Given the description of an element on the screen output the (x, y) to click on. 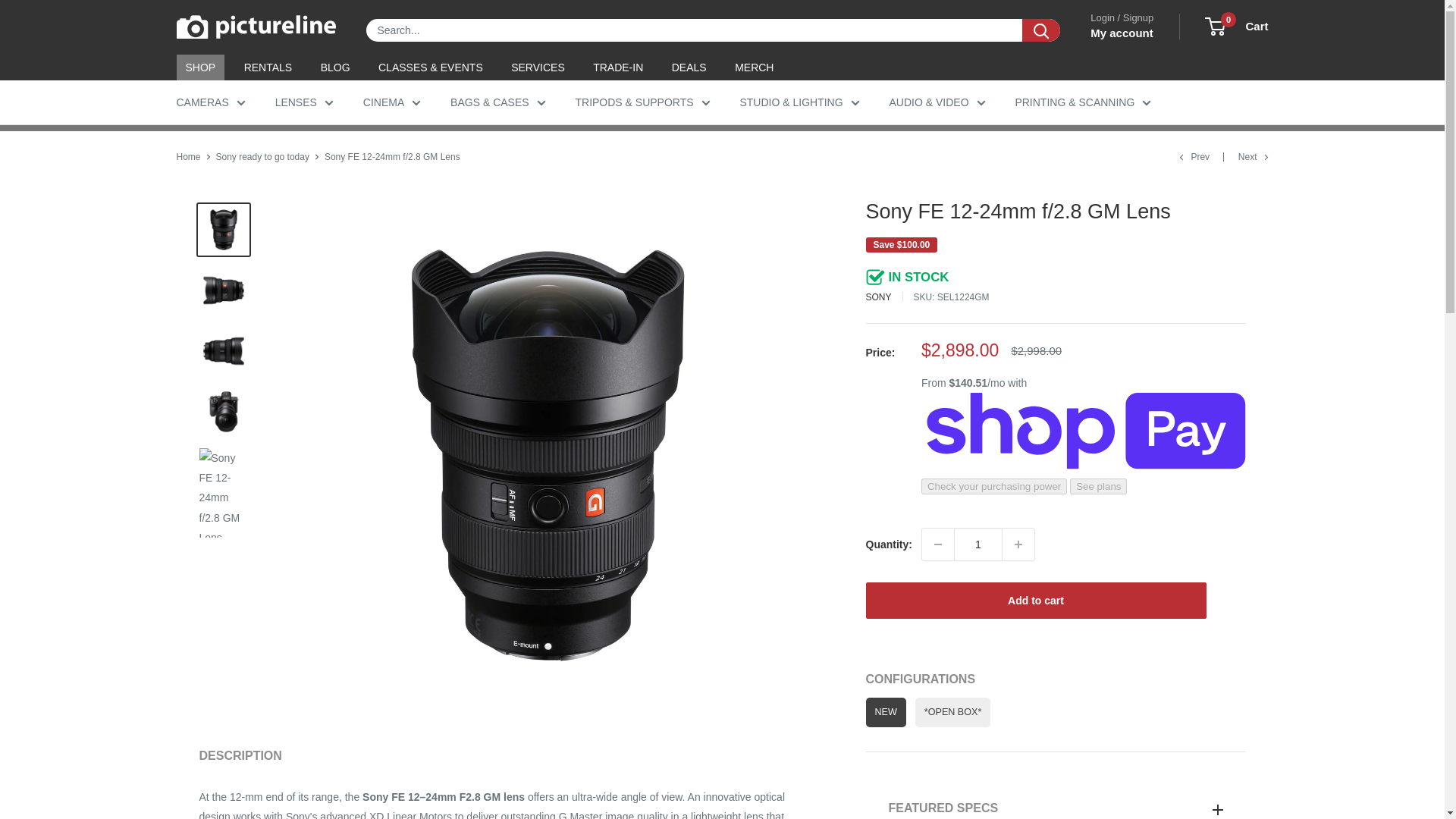
1 (978, 544)
Decrease quantity by 1 (937, 544)
Increase quantity by 1 (1018, 544)
